Given the description of an element on the screen output the (x, y) to click on. 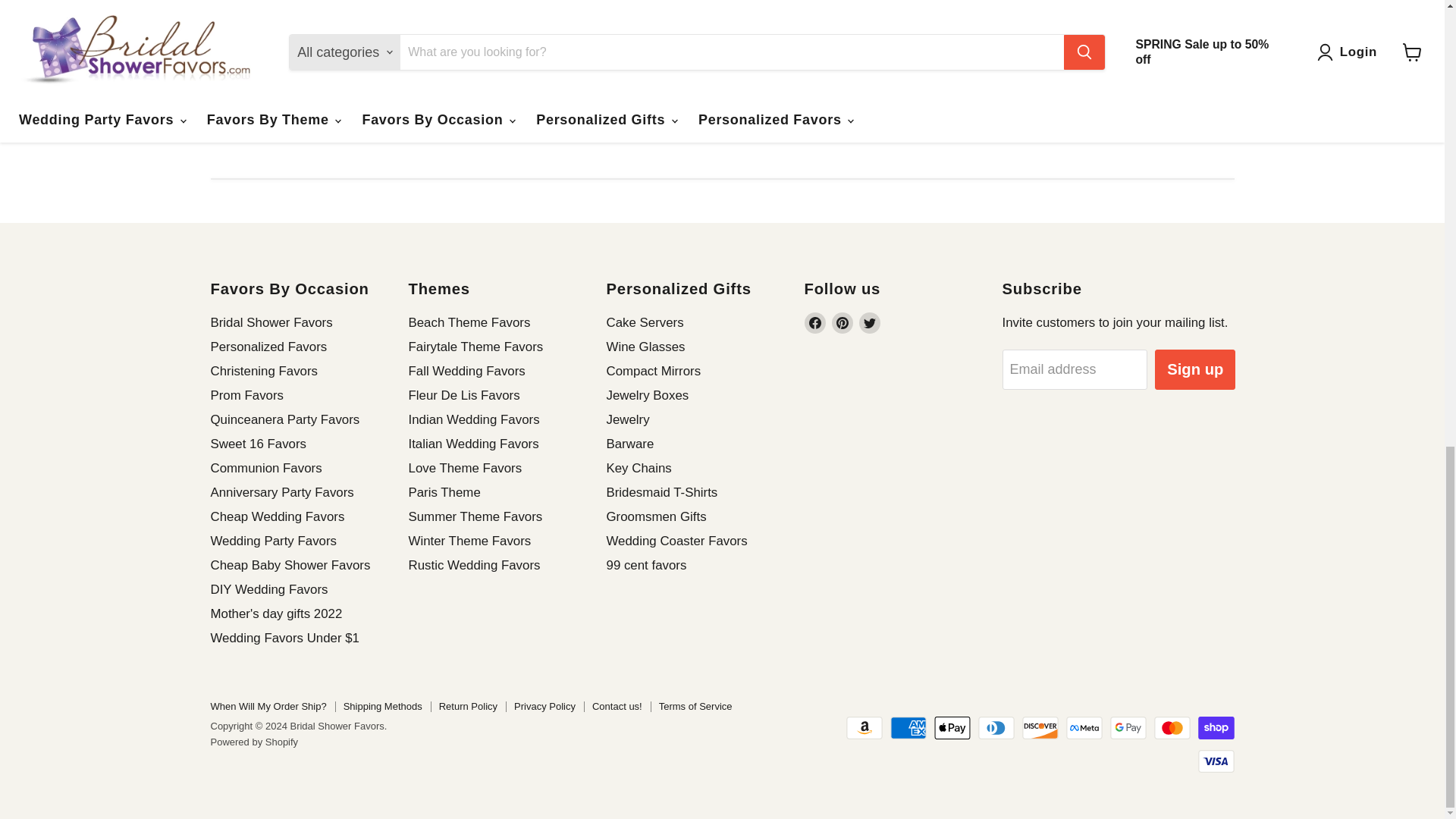
Facebook (814, 322)
Twitter (869, 322)
Pinterest (841, 322)
